Given the description of an element on the screen output the (x, y) to click on. 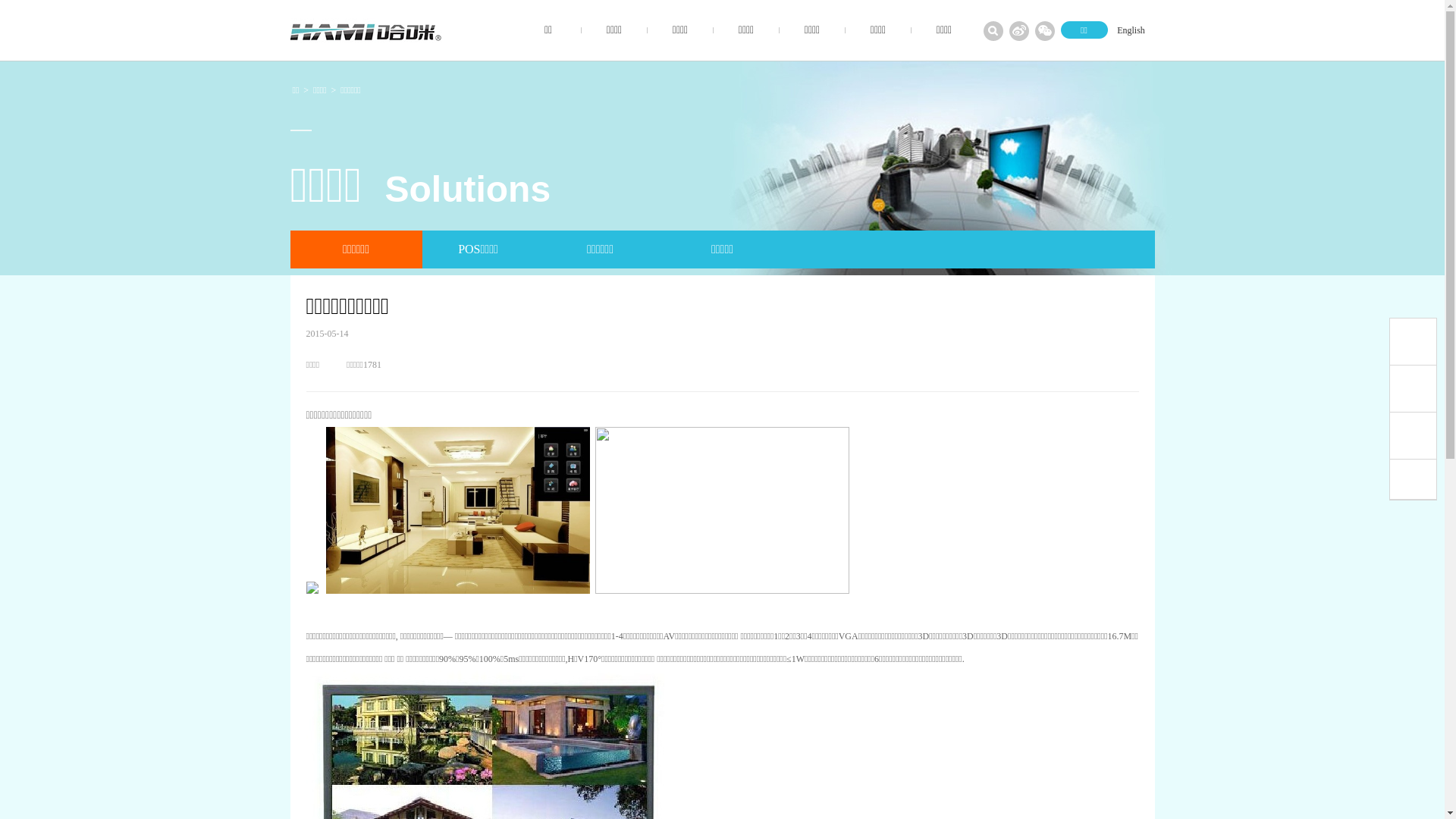
English Element type: text (1130, 30)
